Given the description of an element on the screen output the (x, y) to click on. 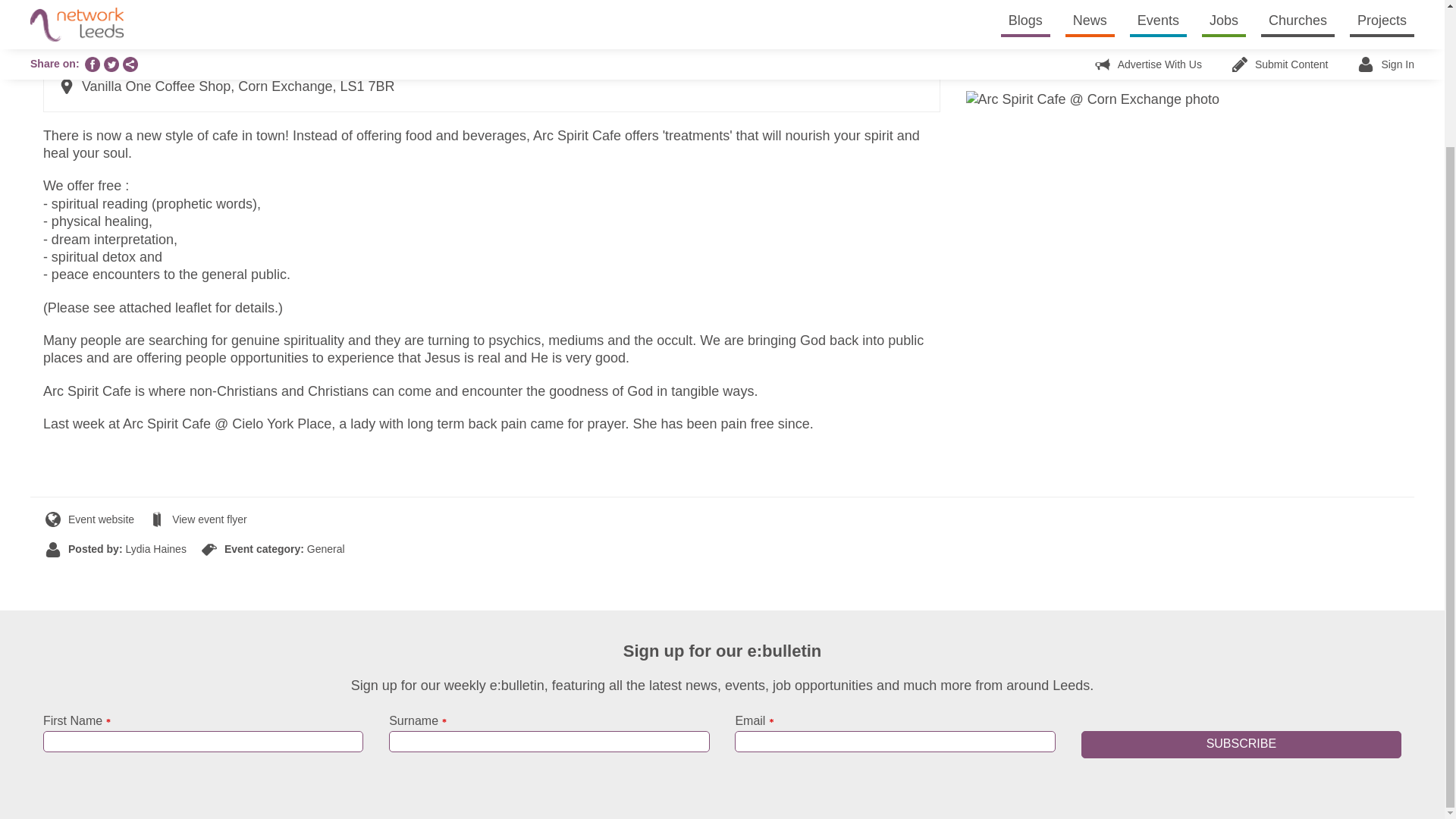
View event flyer (198, 519)
Event website (89, 519)
SUBSCRIBE (1241, 744)
Vanilla One Coffee Shop, Corn Exchange, LS1 7BR (226, 86)
